Given the description of an element on the screen output the (x, y) to click on. 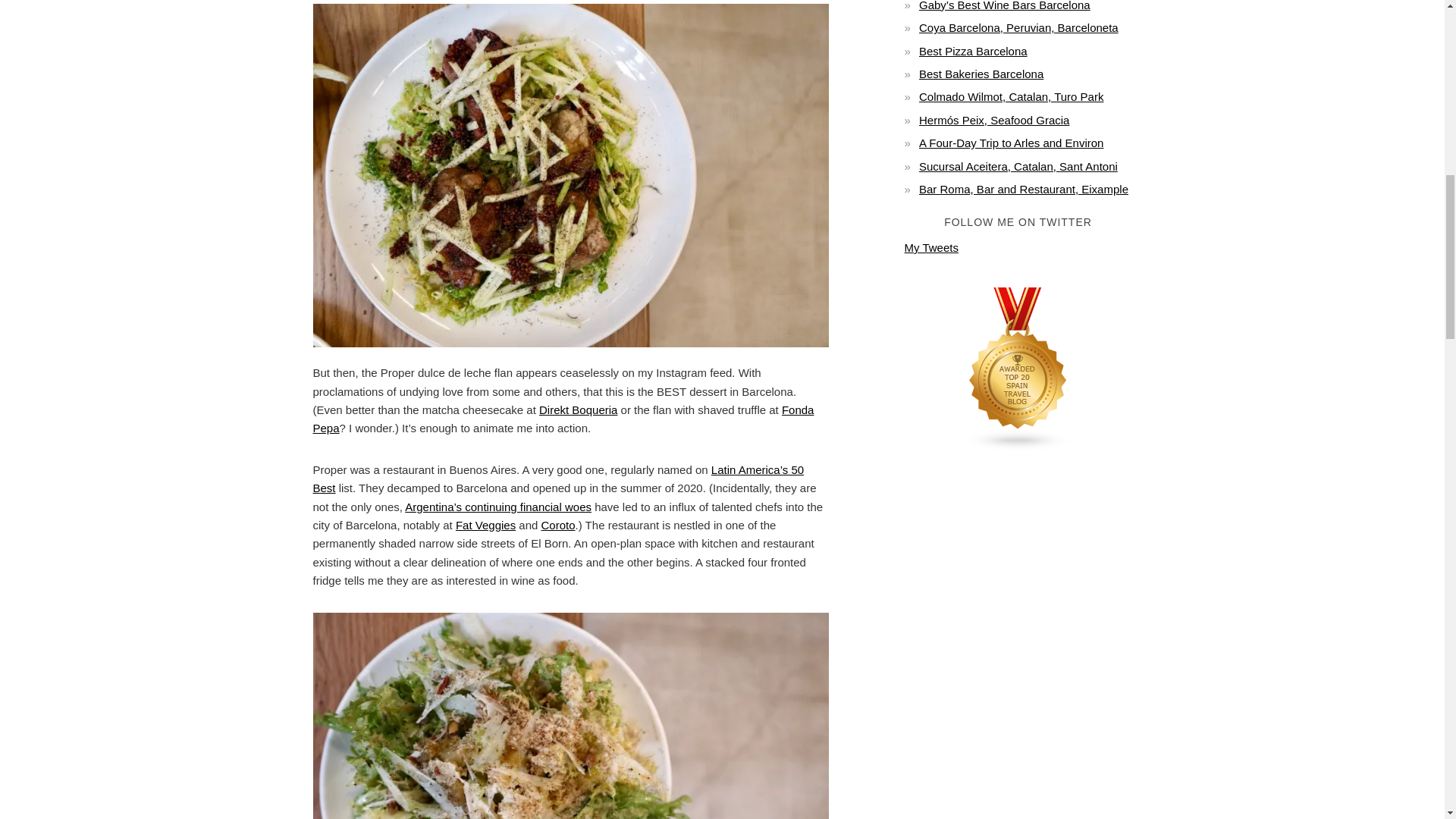
Direkt Boqueria (577, 409)
Coroto (558, 524)
Fat Veggies (485, 524)
Fonda Pepa (563, 418)
